Given the description of an element on the screen output the (x, y) to click on. 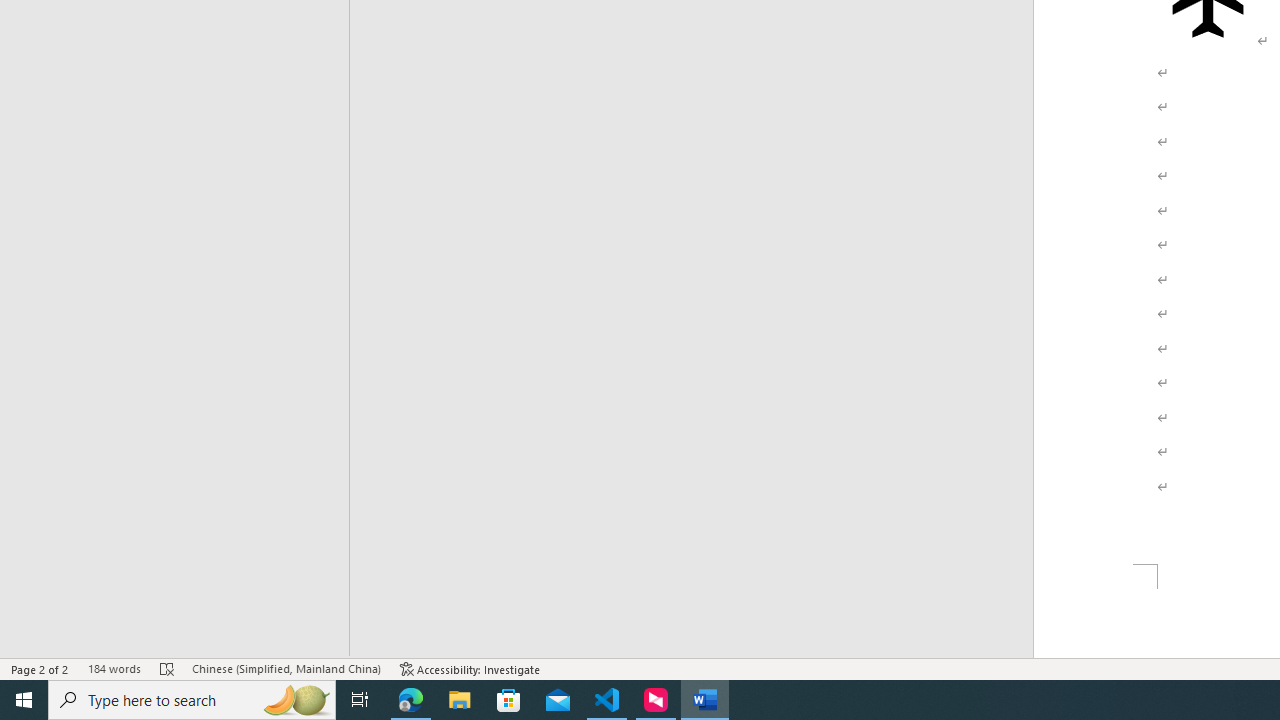
Spelling and Grammar Check Errors (168, 668)
Page Number Page 2 of 2 (39, 668)
Word Count 184 words (113, 668)
Language Chinese (Simplified, Mainland China) (286, 668)
